Given the description of an element on the screen output the (x, y) to click on. 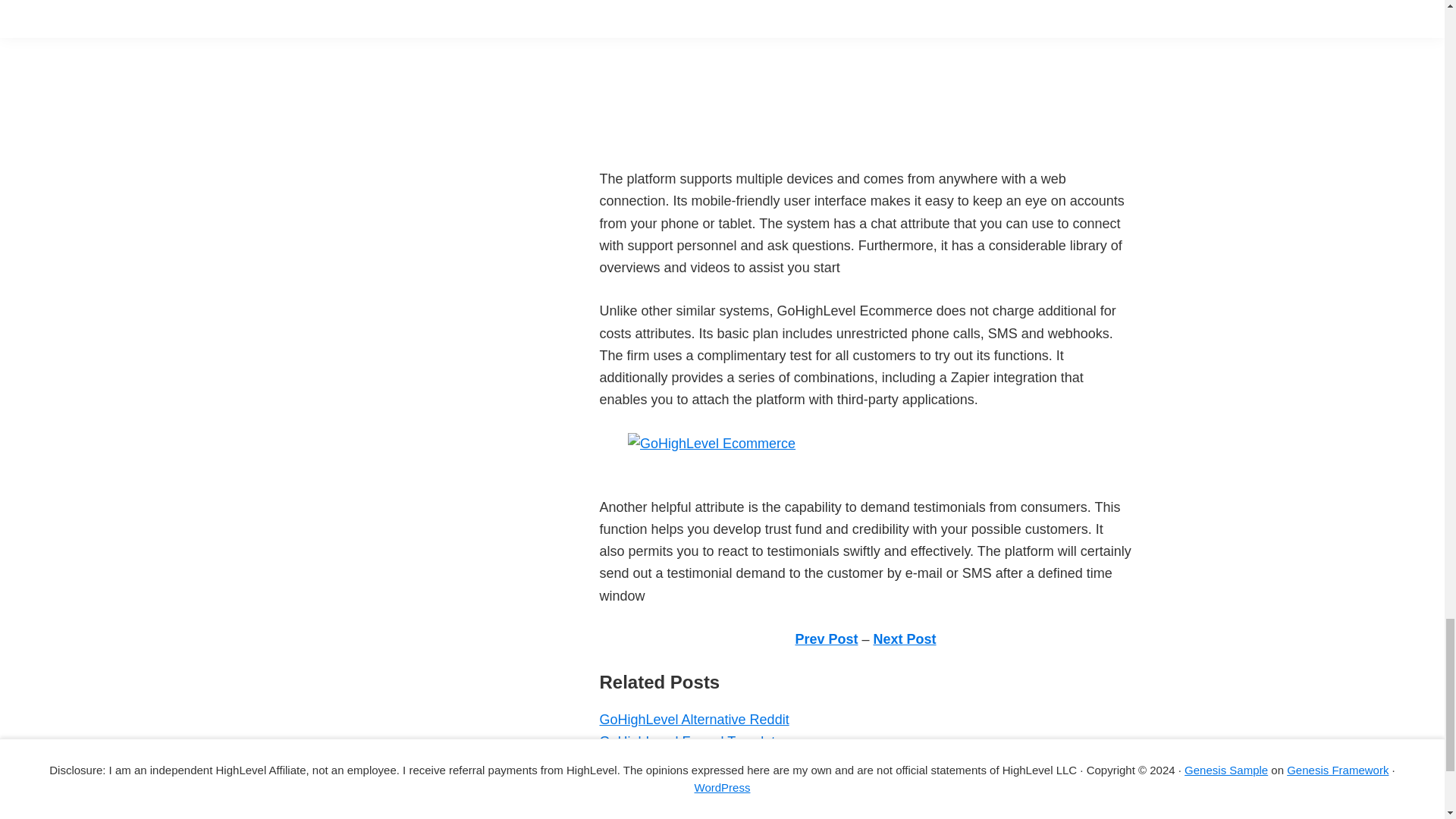
GoHighLevel Logo PNG (671, 807)
How To Host Clients Website with GoHighLevel (741, 763)
GoHighLevel Alternative Reddit (693, 719)
GoHighLevel Funnel Templates (693, 741)
Next Post (904, 639)
GoHighLevel Funnel Templates (693, 741)
GoHighLevel Alternative Reddit (693, 719)
How To Host Clients Website with GoHighLevel (741, 763)
GoHighLevel Jobs (654, 785)
GoHighLevel Jobs (654, 785)
